Given the description of an element on the screen output the (x, y) to click on. 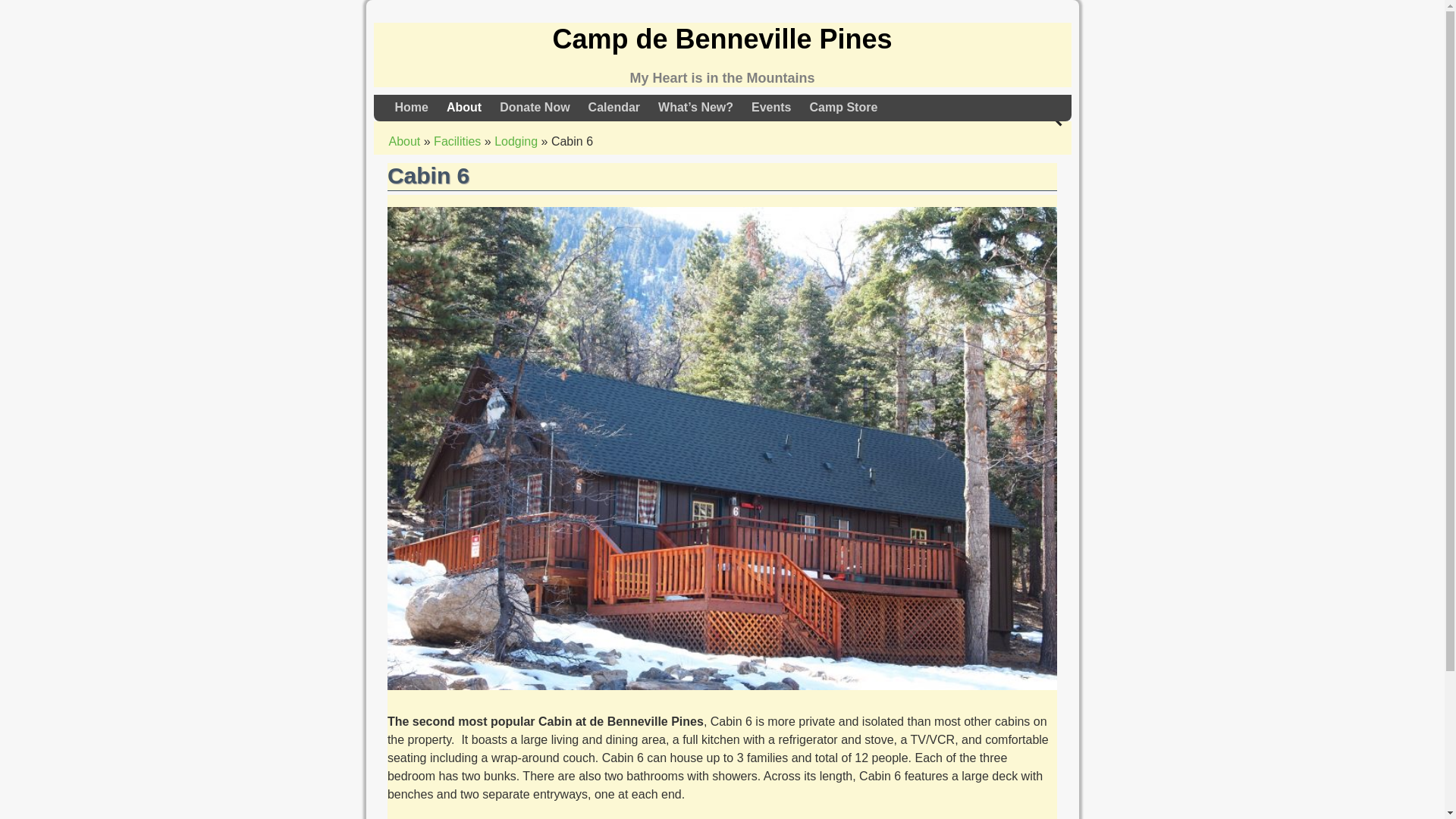
Home (410, 108)
Home (410, 108)
Calendar (614, 108)
About (464, 108)
Donate Now (534, 108)
